Given the description of an element on the screen output the (x, y) to click on. 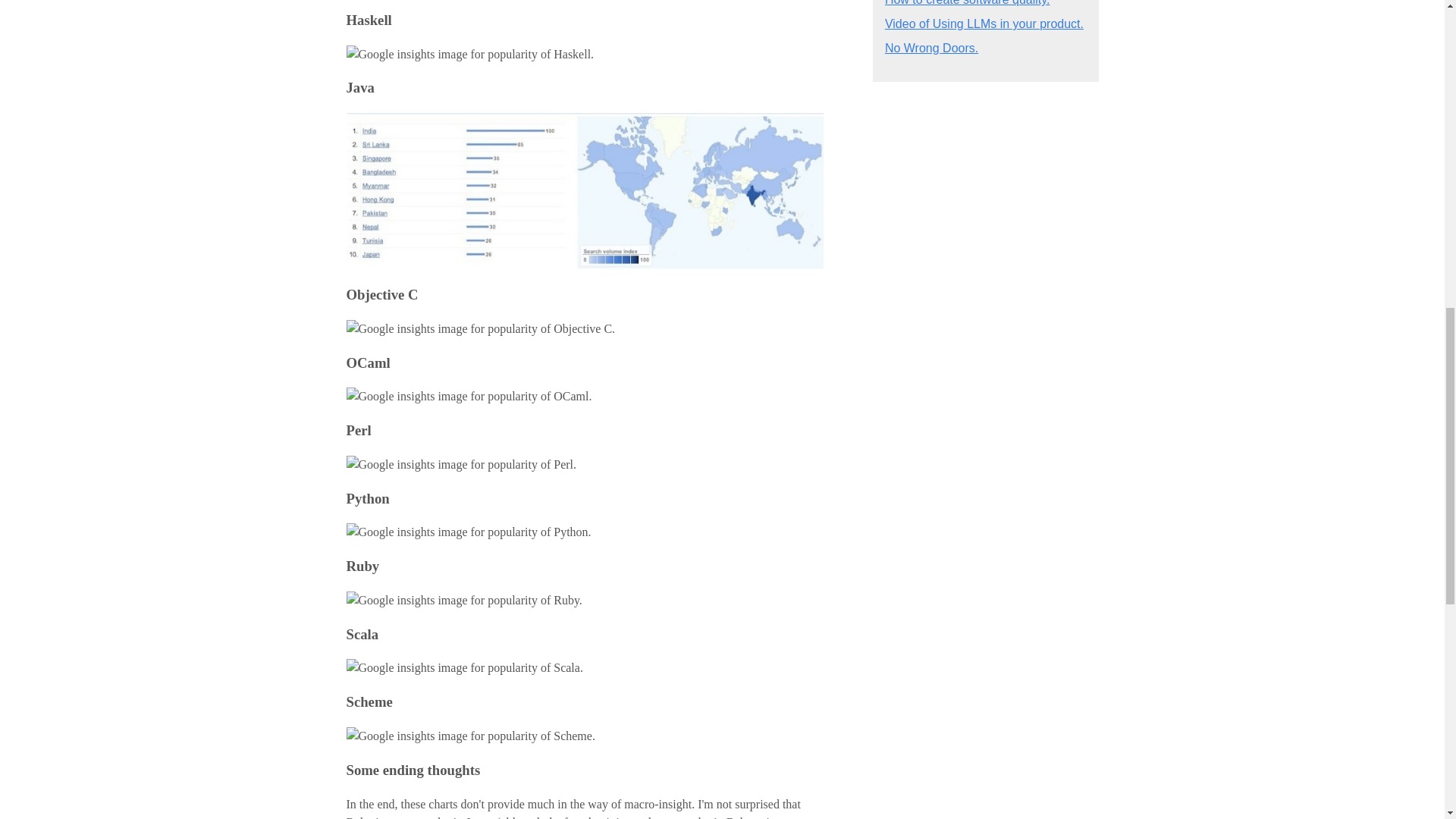
No Wrong Doors. (931, 47)
How to create software quality. (967, 2)
Video of Using LLMs in your product. (984, 23)
